Given the description of an element on the screen output the (x, y) to click on. 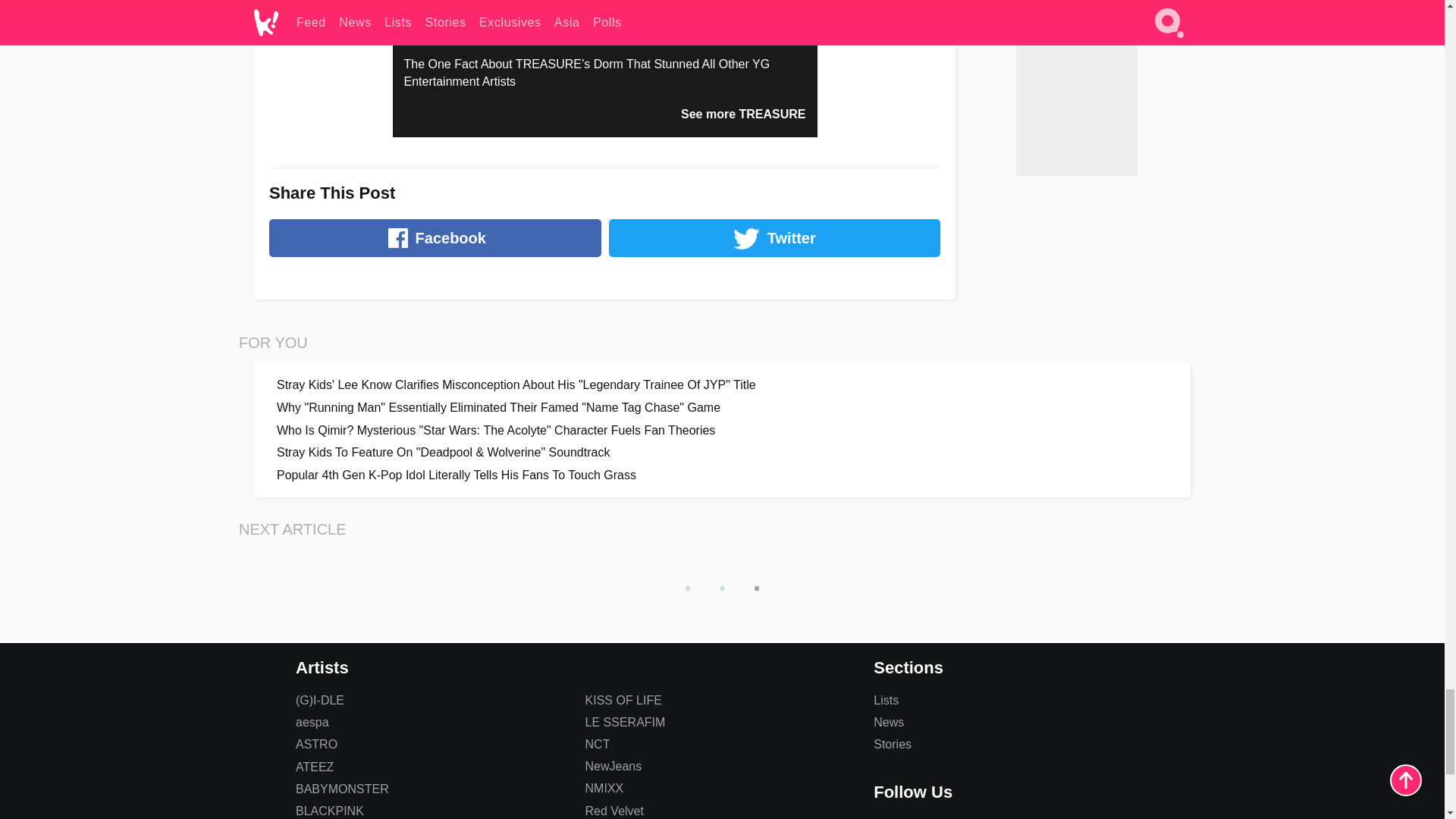
BABYMONSTER (341, 788)
ATEEZ (314, 766)
ASTRO (316, 744)
BLACKPINK (329, 810)
aespa (312, 721)
See more TREASURE (743, 113)
